Given the description of an element on the screen output the (x, y) to click on. 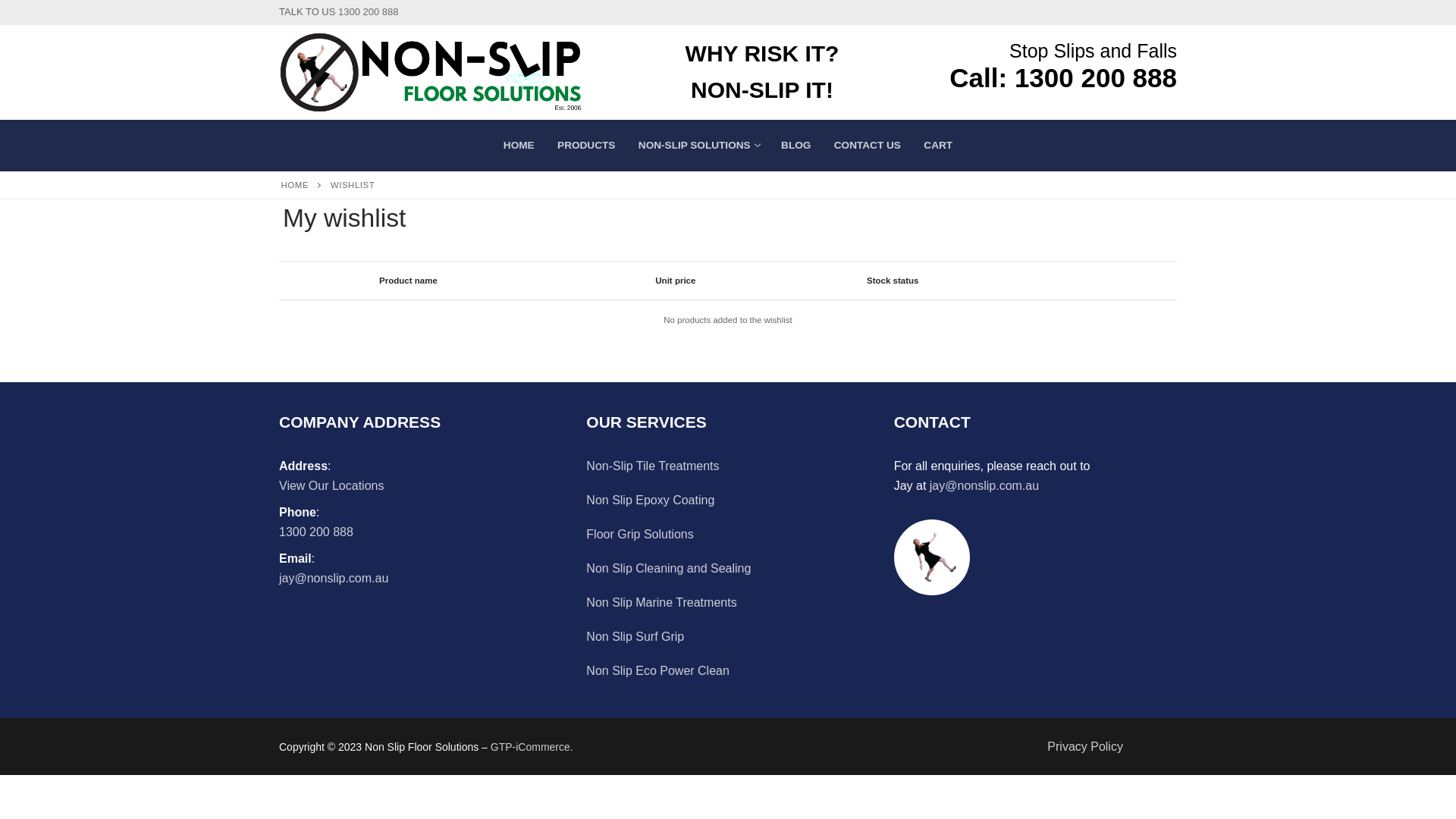
Non Slip Eco Power Clean Element type: text (727, 674)
jay@nonslip.com.au Element type: text (983, 485)
GTP-iCommerce. Element type: text (531, 746)
Non Slip Marine Treatments Element type: text (727, 606)
View Our Locations Element type: text (331, 485)
HOME Element type: text (518, 145)
jay@nonslip.com.au Element type: text (333, 577)
Non Slip Surf Grip Element type: text (727, 640)
1300 200 888 Element type: text (316, 531)
NON-SLIP SOLUTIONS
  Element type: text (698, 145)
Non Slip Epoxy Coating Element type: text (727, 503)
Privacy Policy Element type: text (1085, 746)
BLOG Element type: text (795, 145)
Non Slip Cleaning and Sealing Element type: text (727, 571)
CONTACT US Element type: text (867, 145)
HOME Element type: text (295, 184)
1300 200 888 Element type: text (368, 11)
Non-Slip Tile Treatments Element type: text (727, 469)
PRODUCTS Element type: text (585, 145)
Call: 1300 200 888 Element type: text (1062, 77)
Floor Grip Solutions Element type: text (727, 537)
CART Element type: text (937, 145)
